Given the description of an element on the screen output the (x, y) to click on. 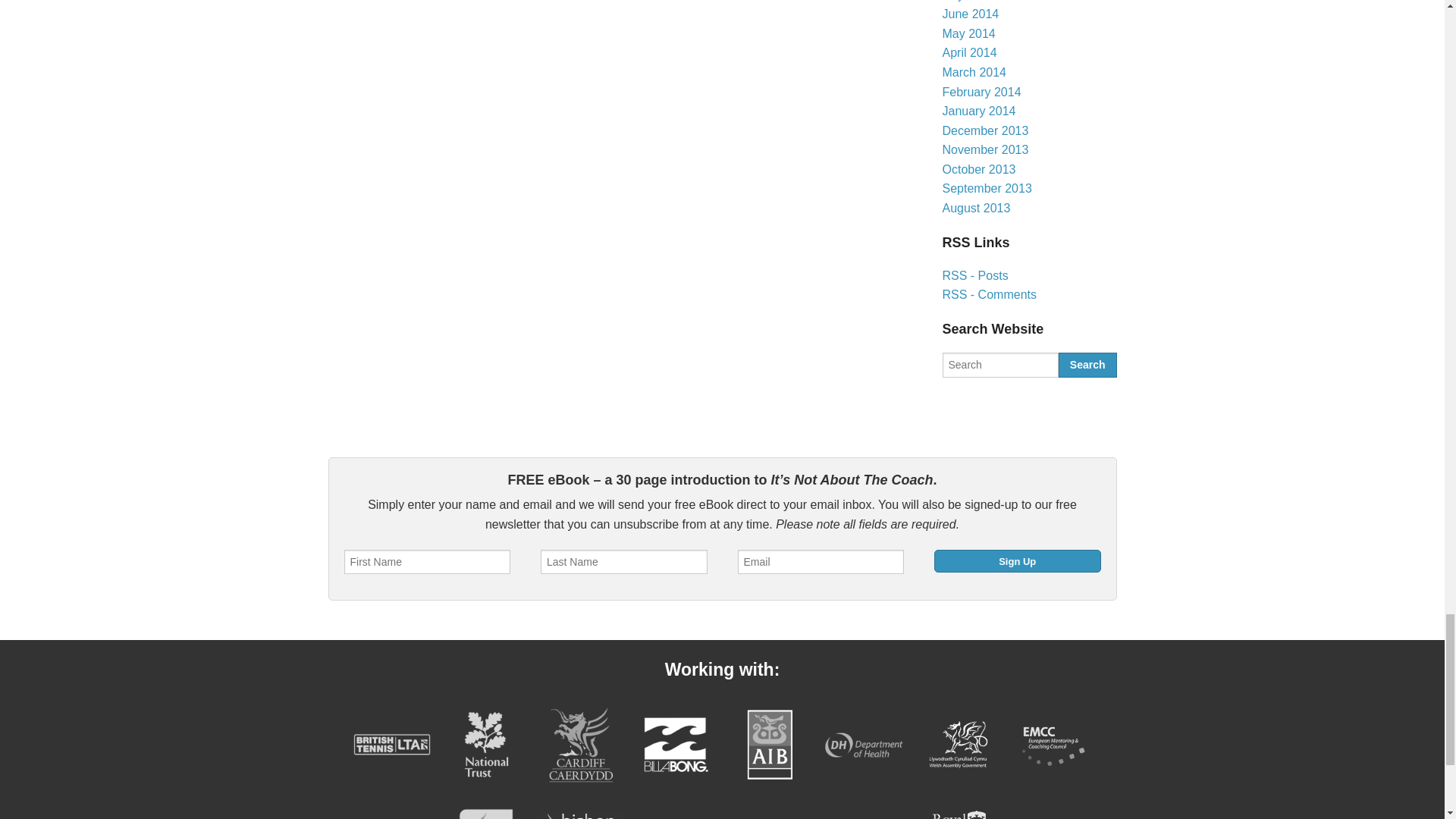
Sign Up (1017, 560)
Search (1087, 364)
